Given the description of an element on the screen output the (x, y) to click on. 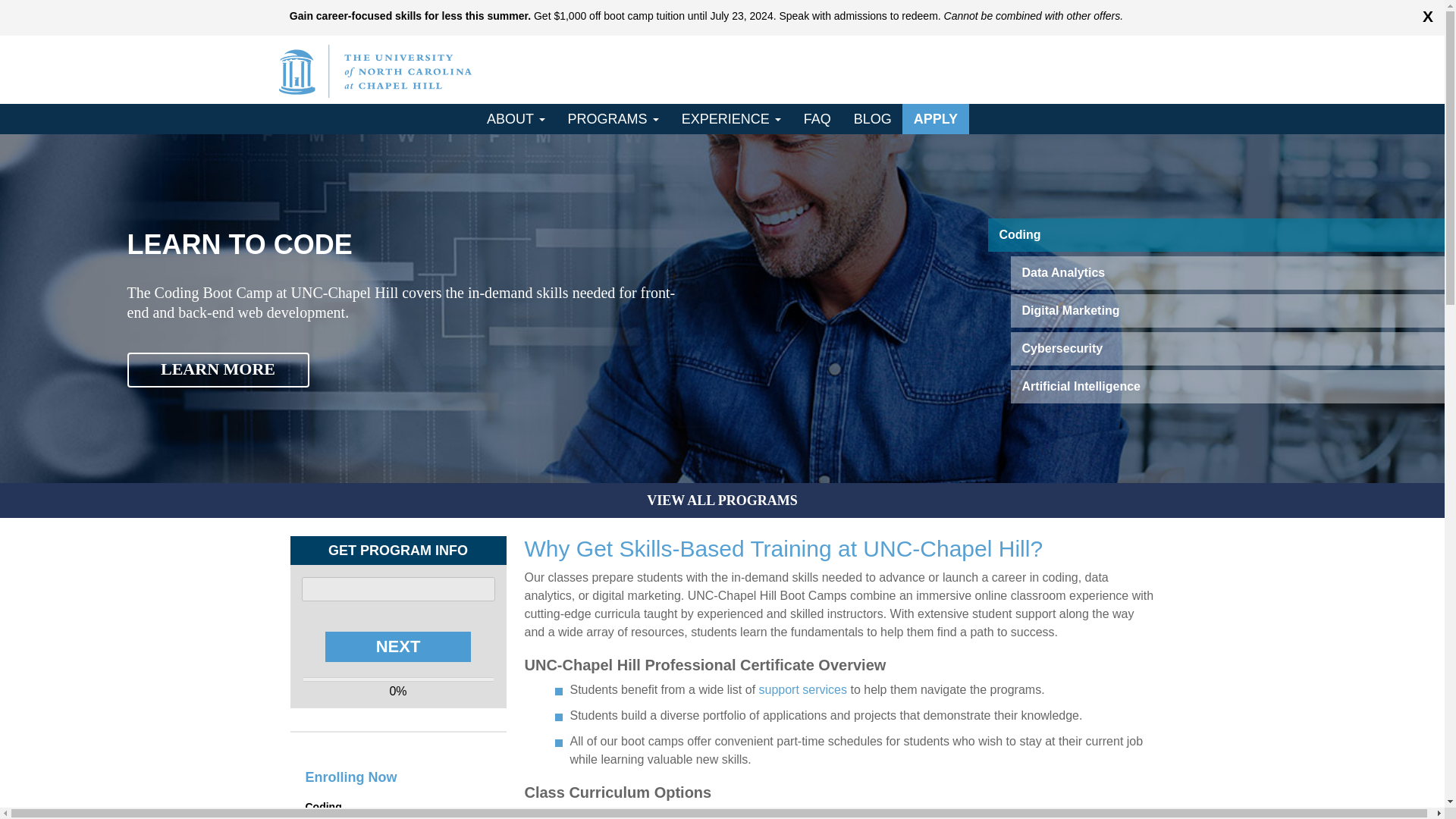
BLOG (872, 119)
ABOUT (516, 119)
PROGRAMS (612, 119)
Programs (612, 119)
LEARN MORE (218, 369)
About (516, 119)
APPLY (935, 119)
Coding (1019, 234)
FAQ (817, 119)
X (1428, 15)
EXPERIENCE (730, 119)
